Given the description of an element on the screen output the (x, y) to click on. 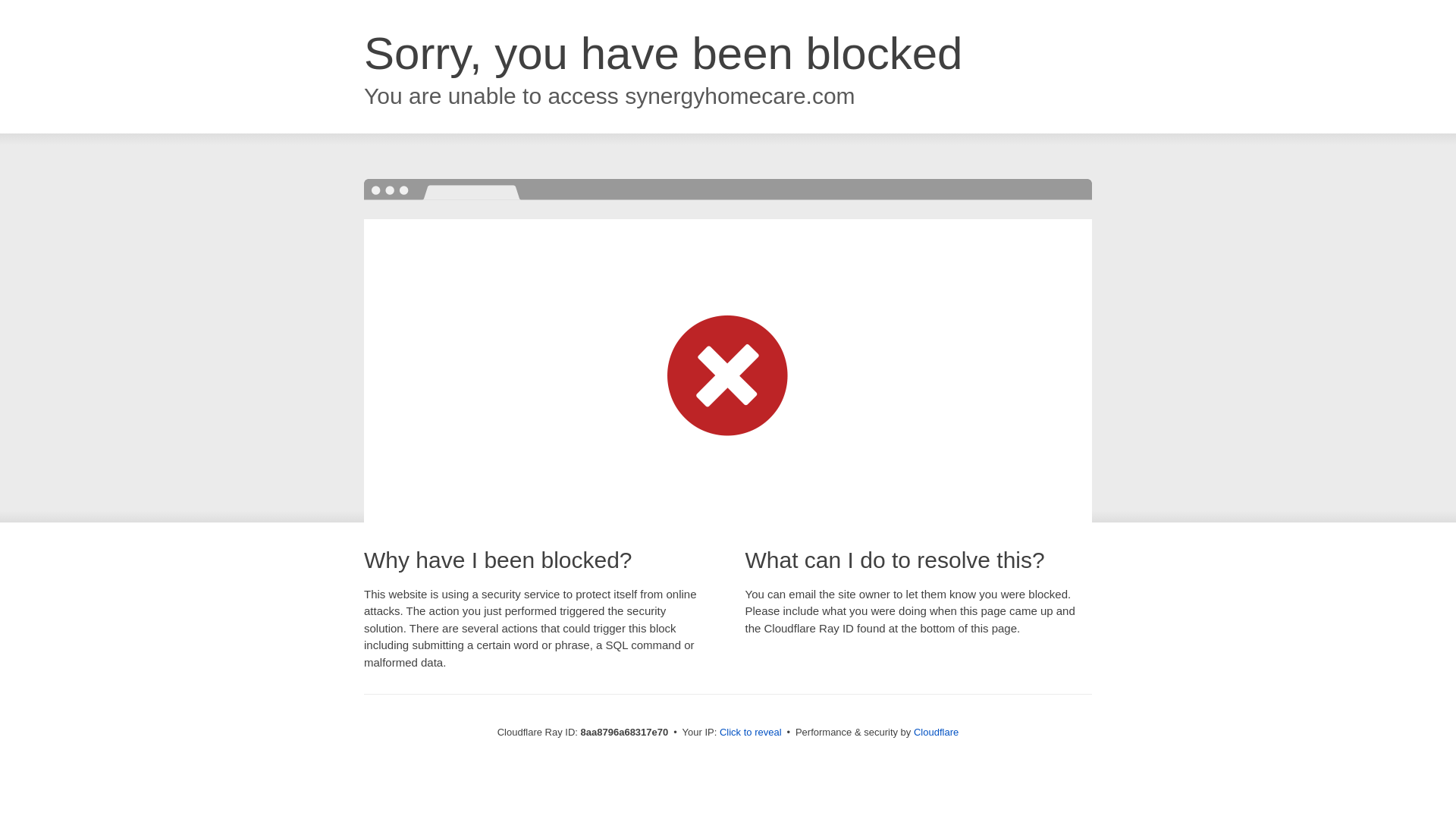
Cloudflare (936, 731)
Click to reveal (750, 732)
